Given the description of an element on the screen output the (x, y) to click on. 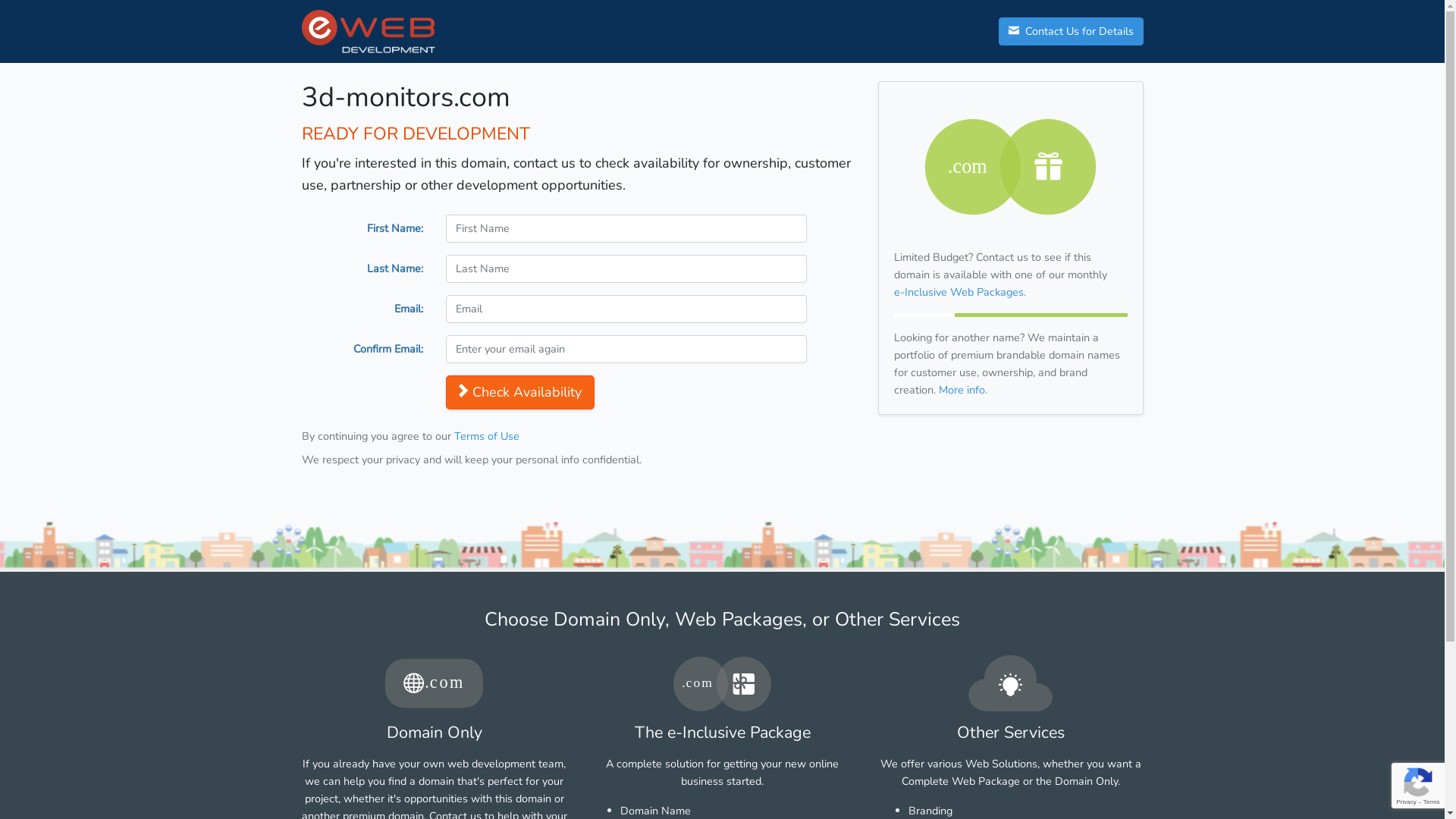
e-Inclusive Web Packages. Element type: text (959, 291)
More info. Element type: text (962, 389)
Terms of Use Element type: text (485, 435)
Check Availability Element type: text (519, 392)
Contact Us for Details Element type: text (1069, 31)
